Given the description of an element on the screen output the (x, y) to click on. 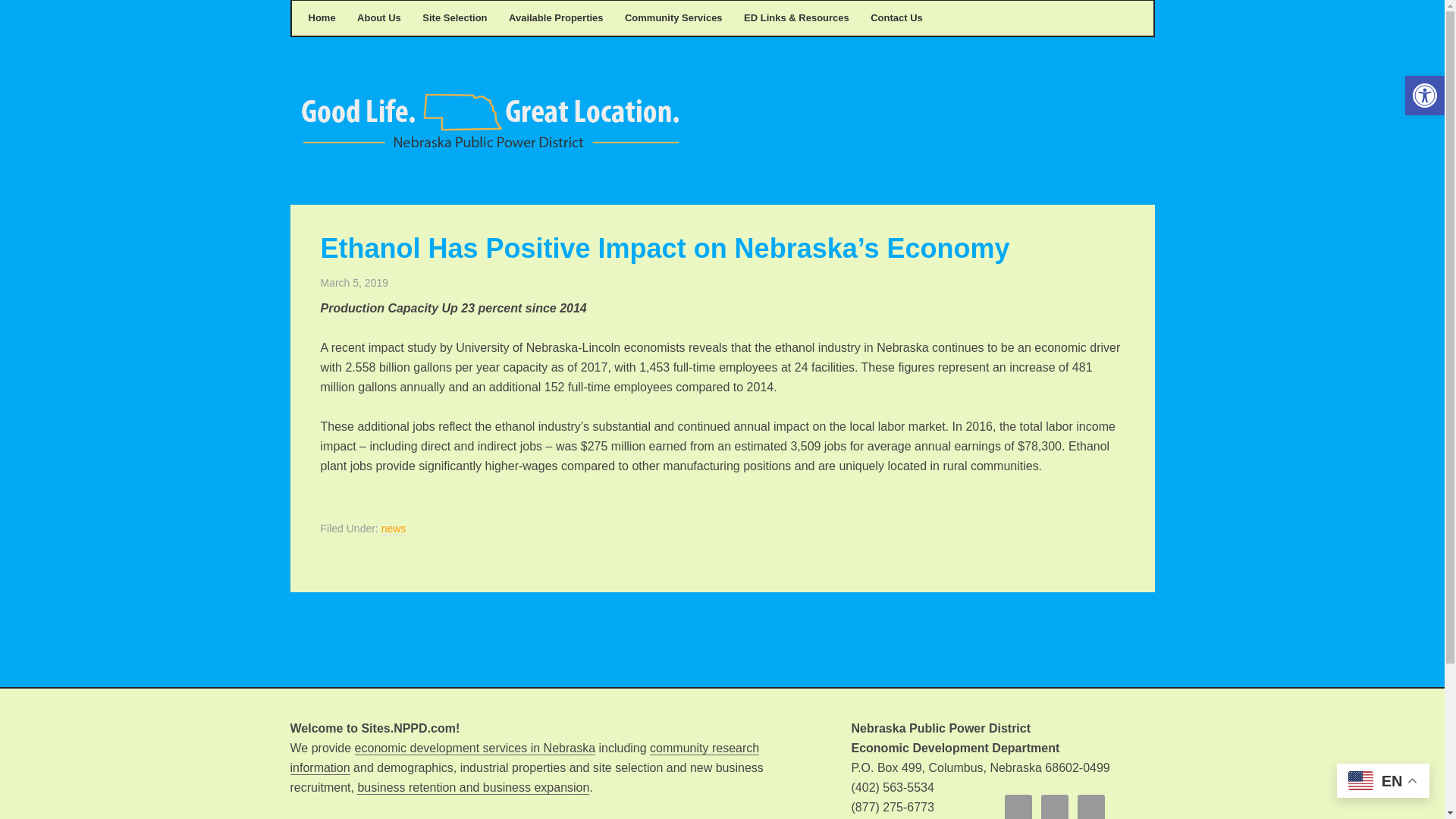
community research information (523, 758)
Community Services (673, 17)
Contact Us (896, 17)
business retention and business expansion (472, 787)
Available Properties (556, 17)
news (393, 528)
Home (320, 17)
About Us (378, 17)
Site Selection (454, 17)
Accessibility Tools (1424, 95)
economic development services in Nebraska (475, 748)
